Given the description of an element on the screen output the (x, y) to click on. 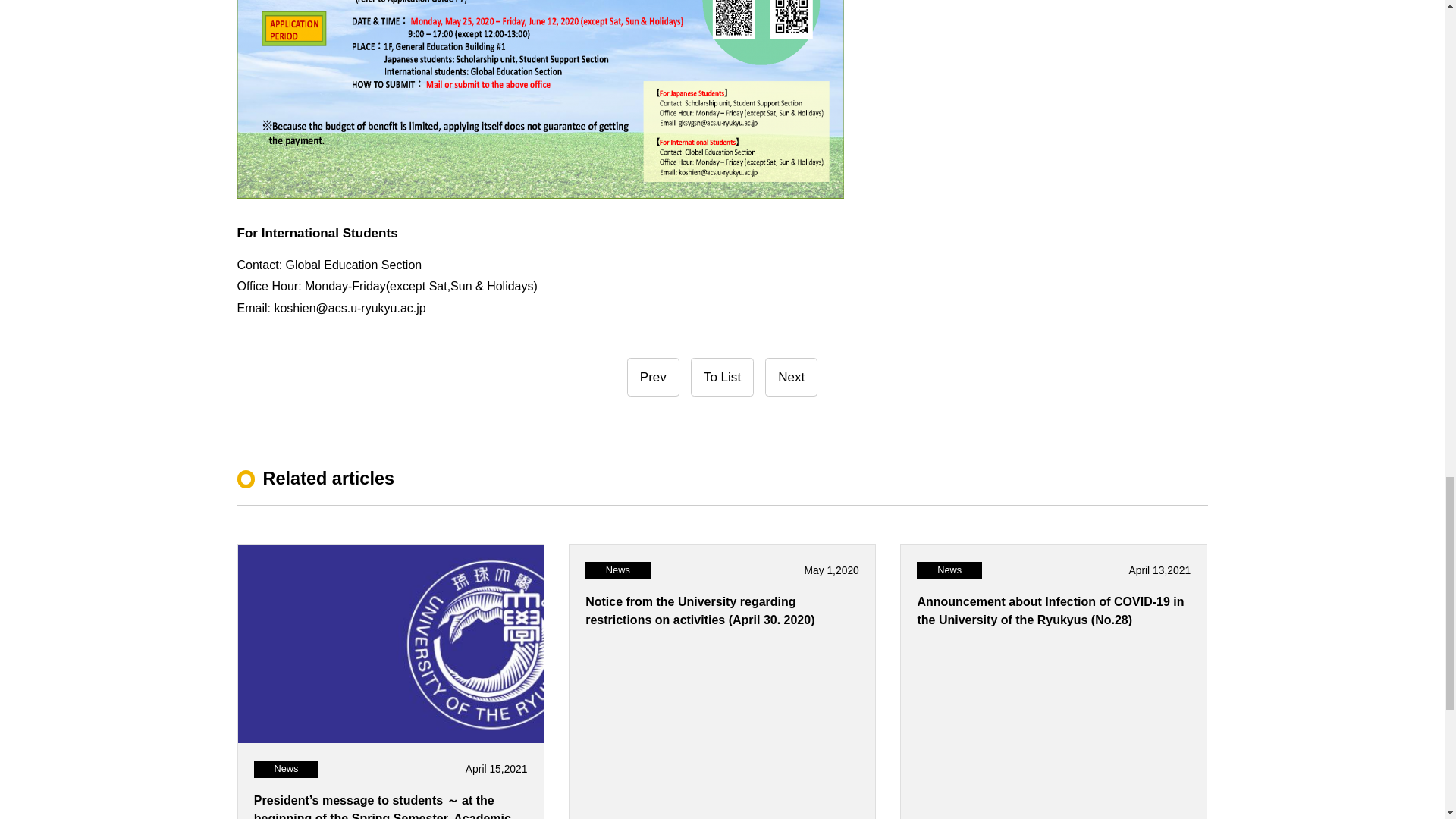
Prev (653, 376)
To List (722, 376)
Next (790, 376)
